Given the description of an element on the screen output the (x, y) to click on. 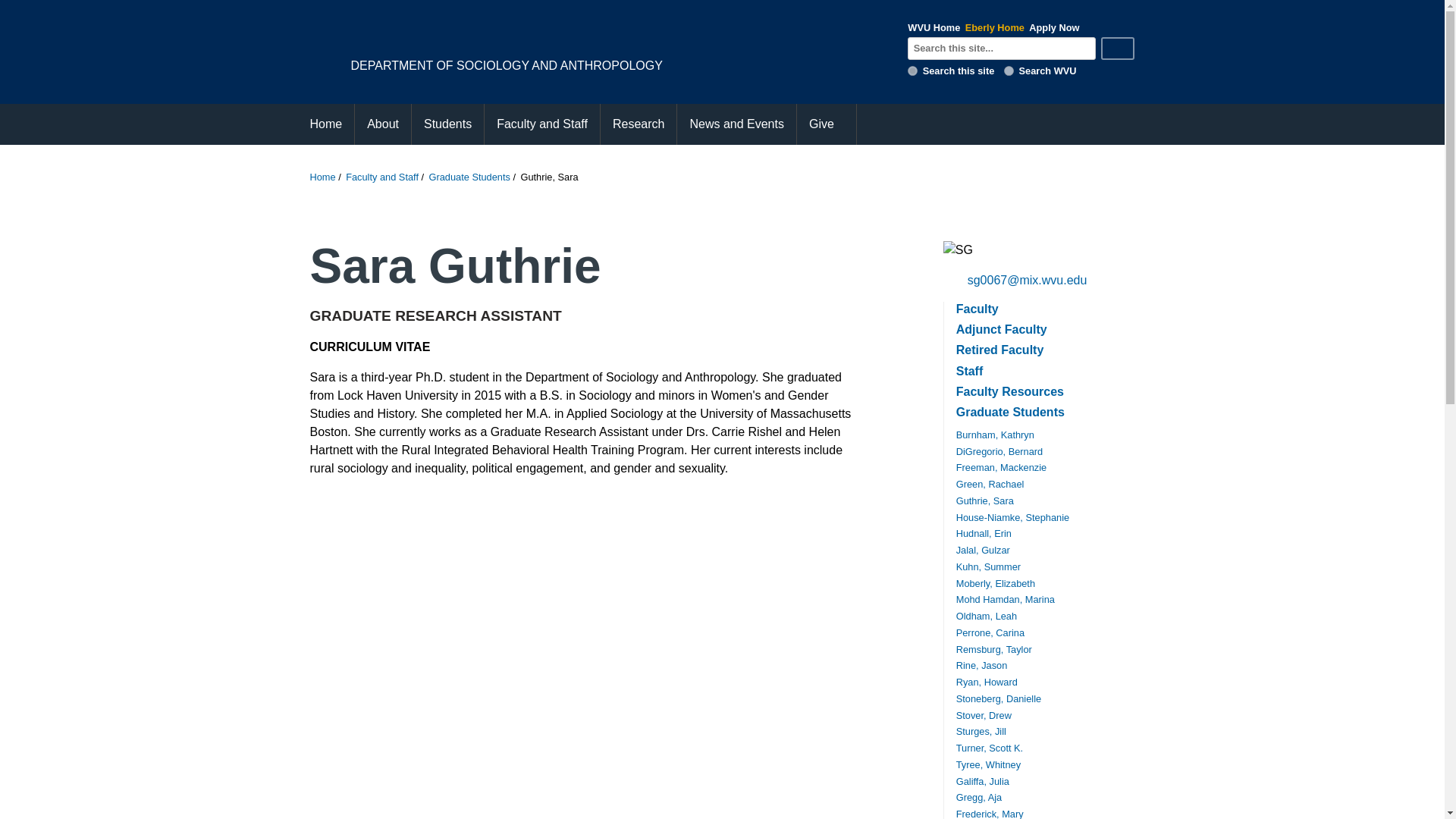
Moberly, Elizabeth (995, 583)
Students (447, 124)
Remsburg, Taylor (994, 649)
soca.wvu.edu (912, 71)
Search (1117, 47)
WVU Home (933, 27)
Kuhn, Summer (988, 566)
Home (321, 176)
Perrone, Carina (990, 632)
Faculty Resources (1010, 391)
